Given the description of an element on the screen output the (x, y) to click on. 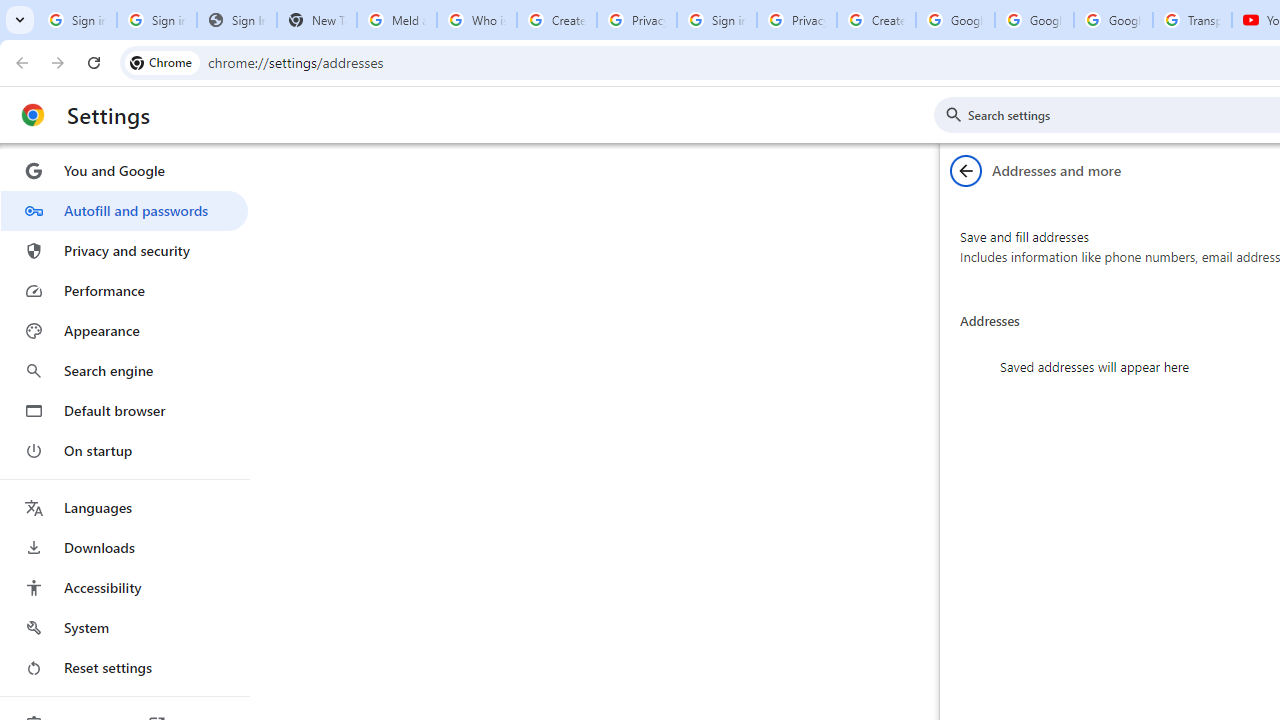
Appearance (124, 331)
Performance (124, 290)
New Tab (316, 20)
Privacy and security (124, 250)
Languages (124, 507)
Default browser (124, 410)
Sign in - Google Accounts (716, 20)
Search engine (124, 370)
Downloads (124, 547)
